Given the description of an element on the screen output the (x, y) to click on. 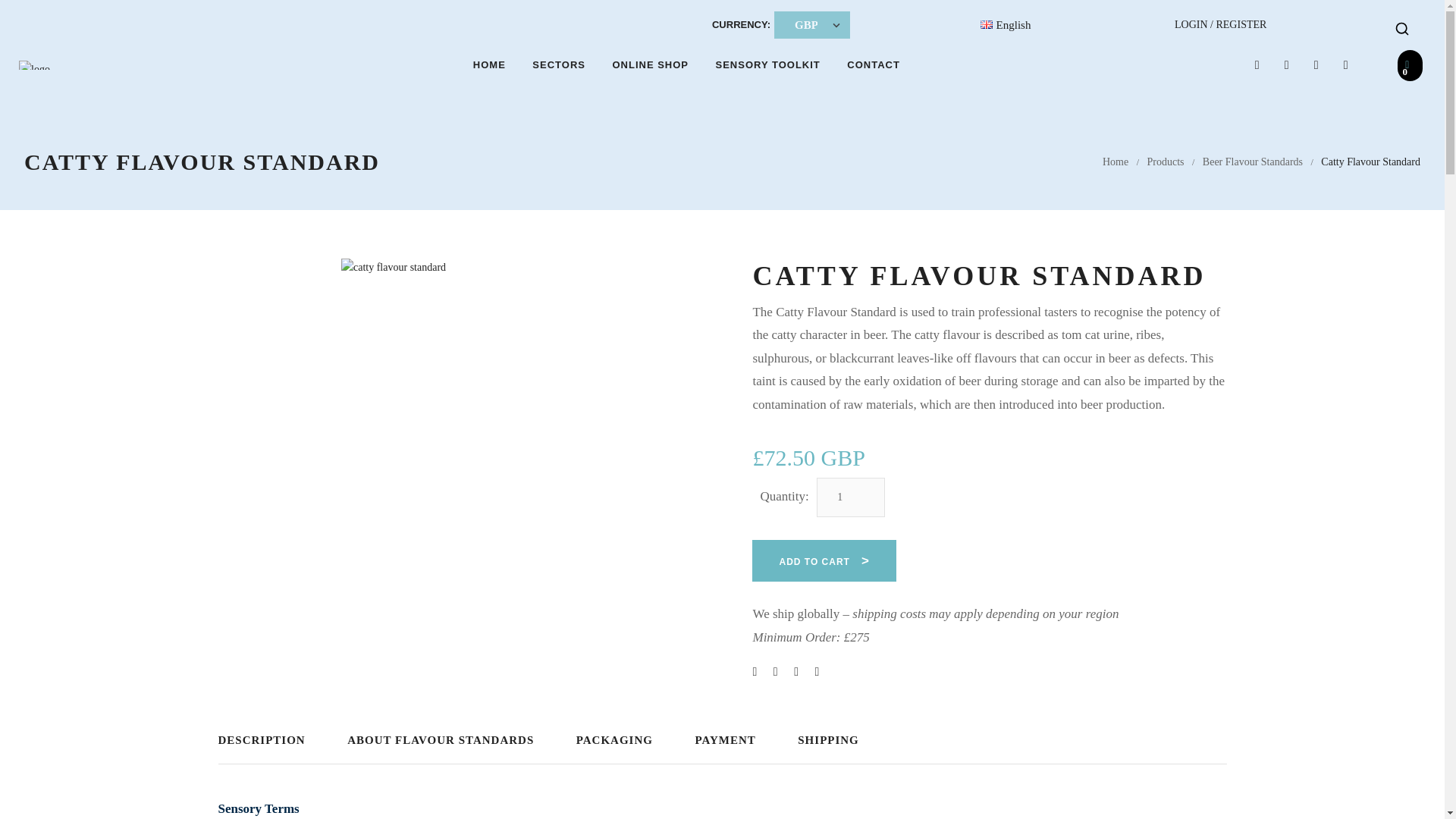
Qty (850, 496)
Catty (464, 381)
1 (850, 496)
View your shopping cart (1409, 65)
